Given the description of an element on the screen output the (x, y) to click on. 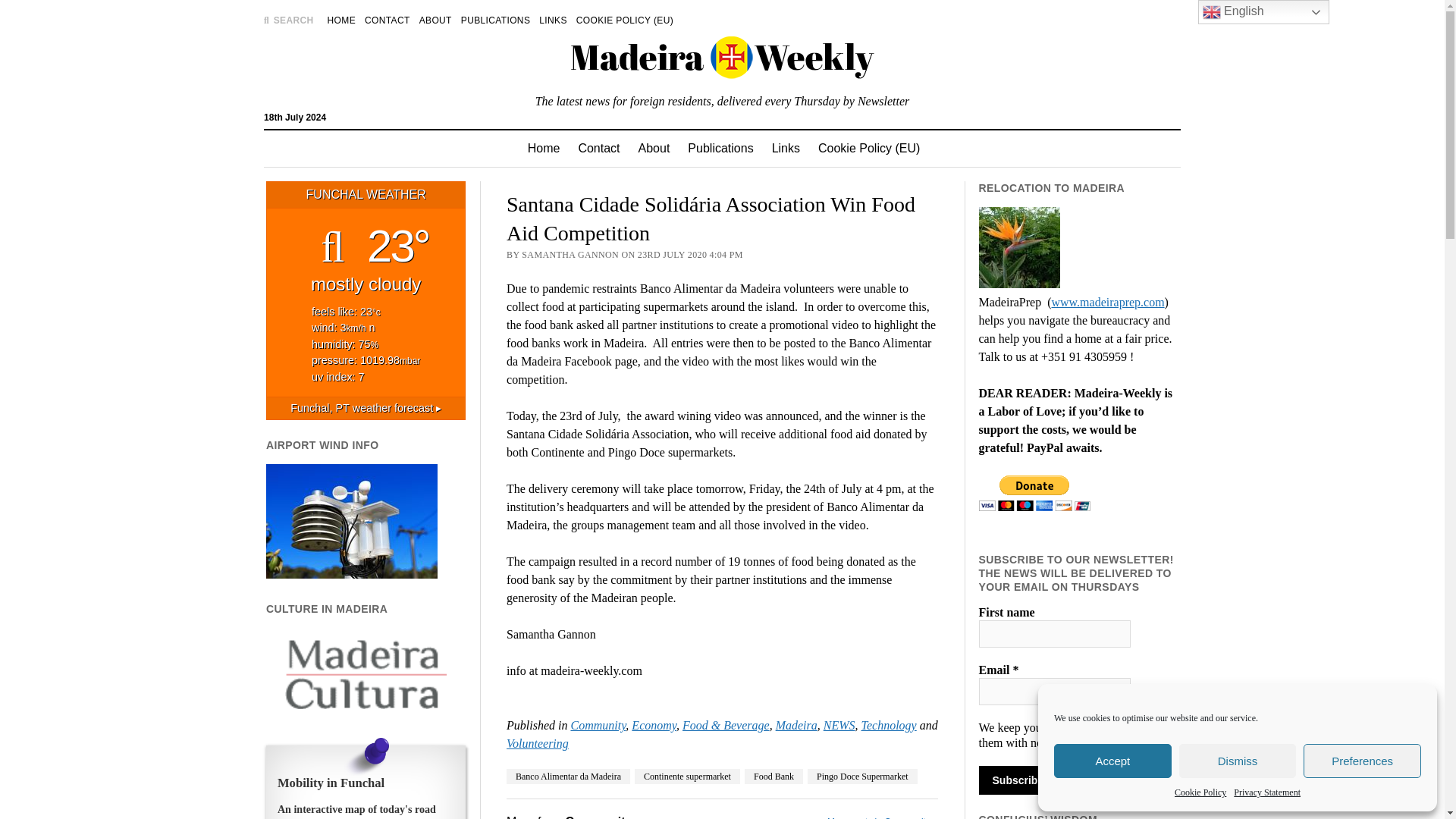
Home (543, 148)
View all posts in NEWS (840, 725)
View all posts in Technology (889, 725)
View all posts tagged Food Bank (773, 776)
Accept (1113, 760)
View all posts in Volunteering (537, 743)
CONTACT (387, 20)
PayPal - The safer, easier way to pay online! (1034, 493)
View all posts tagged Continente supermarket (686, 776)
View all posts in Community (598, 725)
View all posts tagged Banco Alimentar da Madeira (568, 776)
Privacy Statement (1266, 792)
NEWS (840, 725)
Contact (598, 148)
LINKS (552, 20)
